Given the description of an element on the screen output the (x, y) to click on. 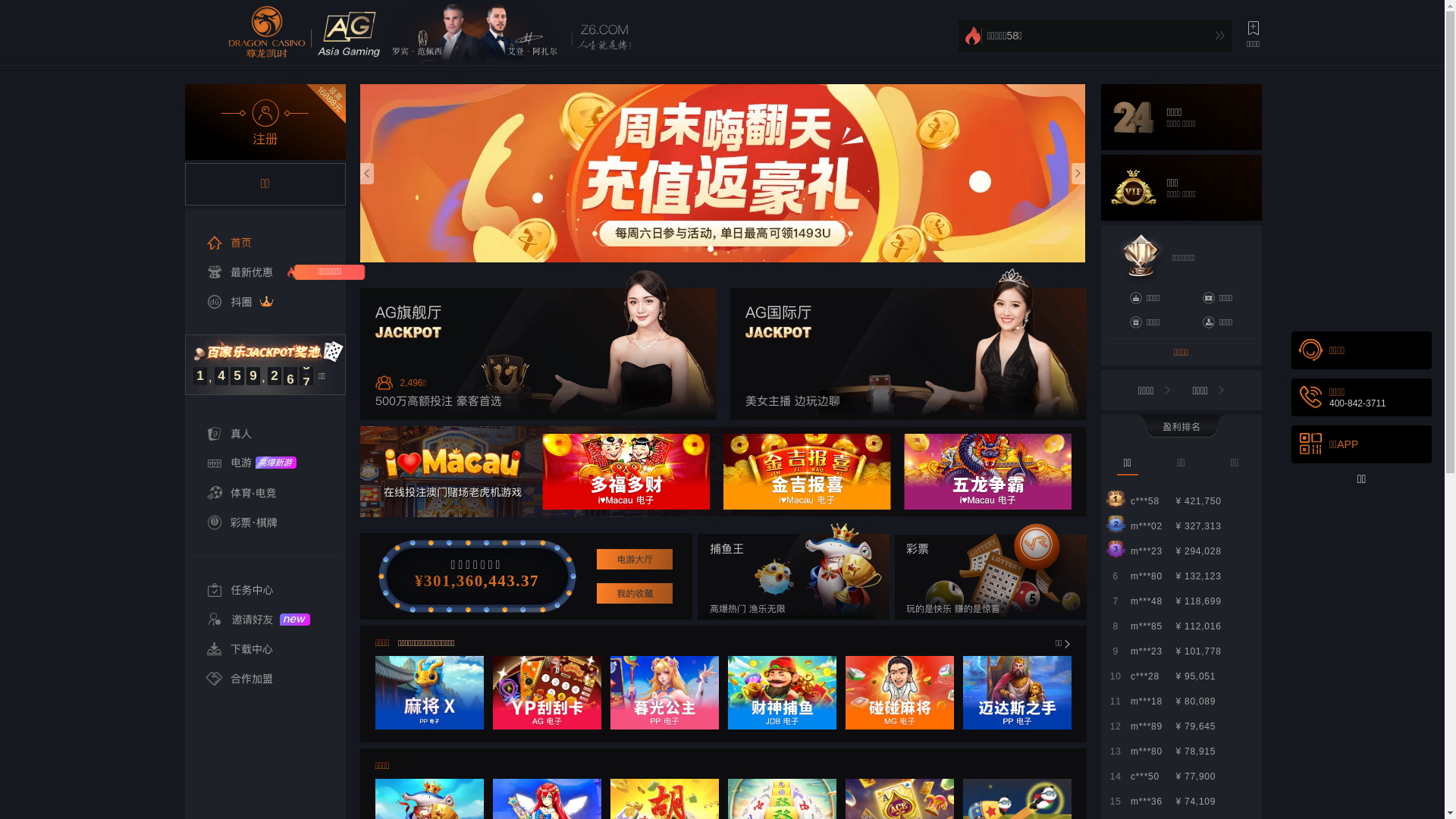
TOP Element type: text (1426, 774)
